Given the description of an element on the screen output the (x, y) to click on. 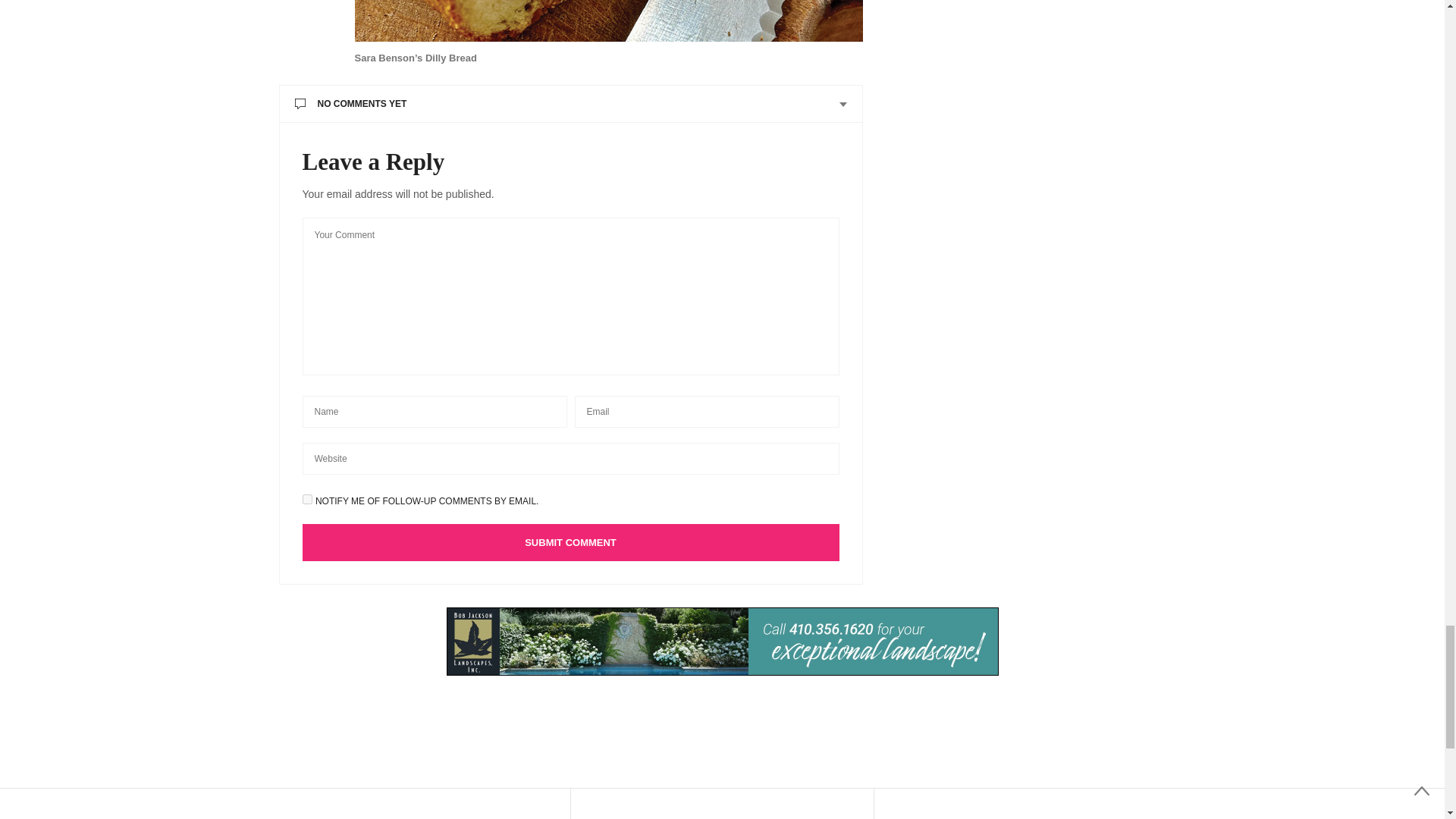
subscribe (306, 499)
Submit Comment (569, 542)
